Given the description of an element on the screen output the (x, y) to click on. 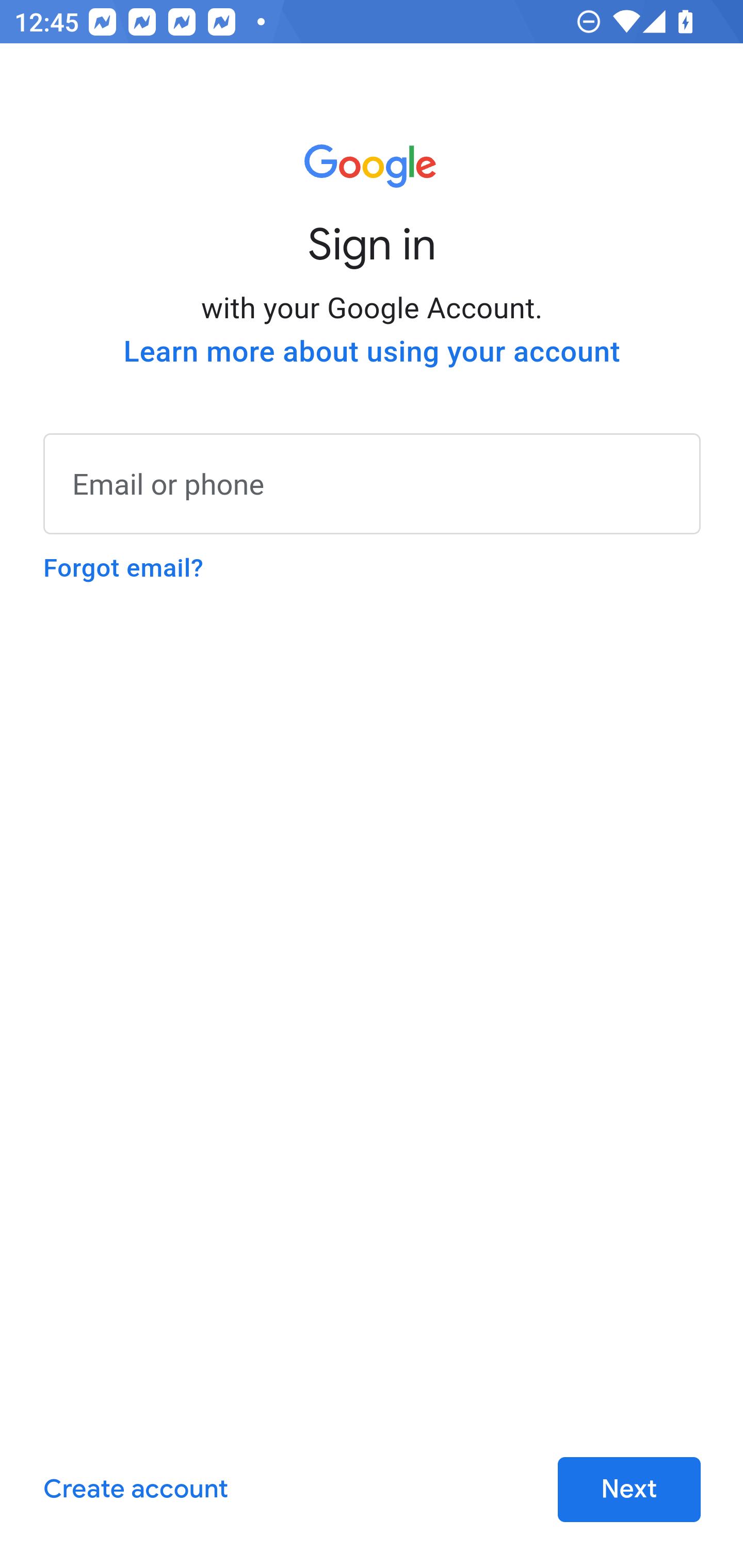
Learn more about using your account (371, 351)
Forgot email? (123, 568)
Create account (134, 1490)
Next (629, 1490)
